Given the description of an element on the screen output the (x, y) to click on. 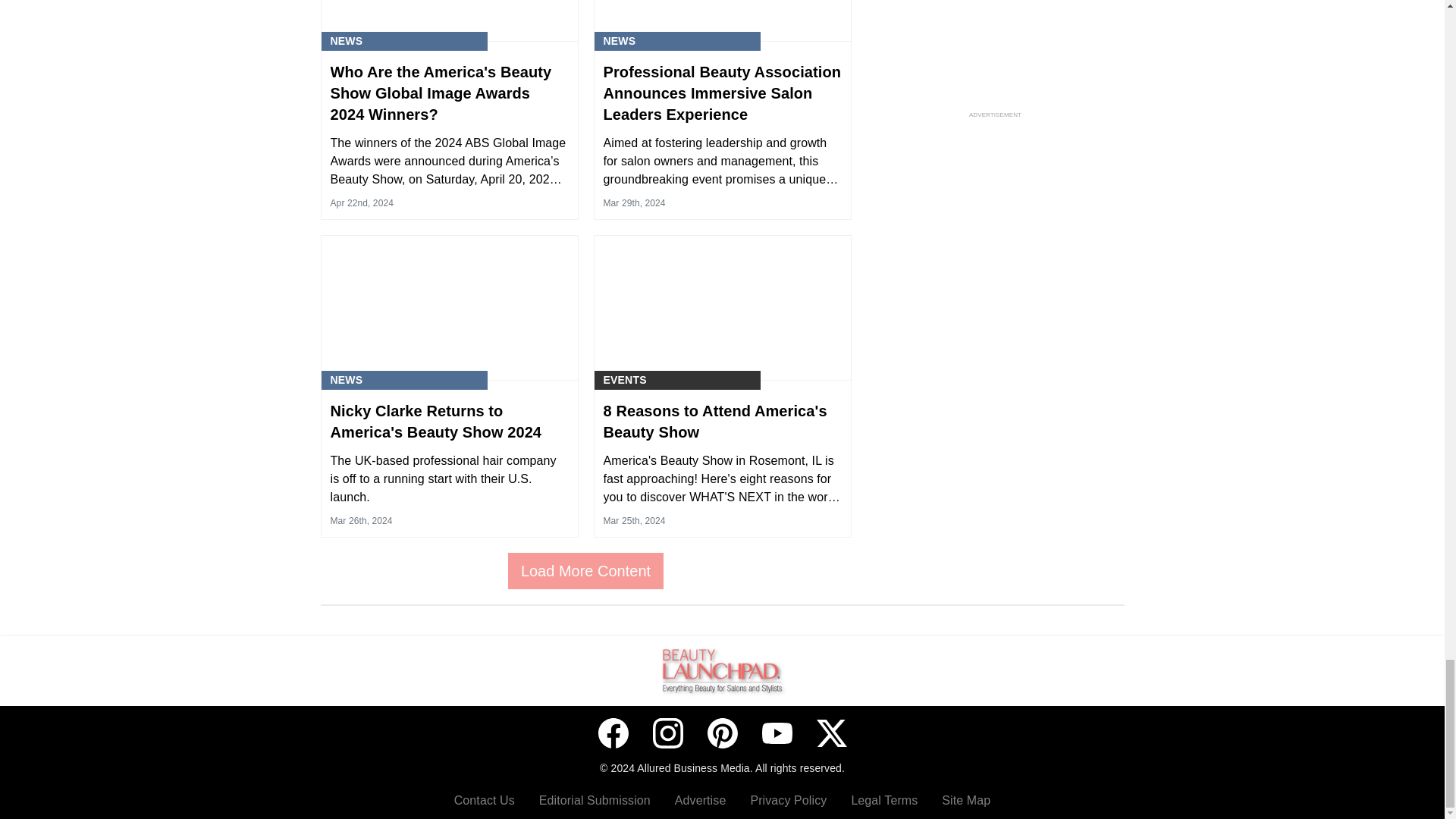
YouTube icon (776, 733)
Facebook icon (611, 733)
Instagram icon (667, 733)
Pinterest icon (721, 733)
